Given the description of an element on the screen output the (x, y) to click on. 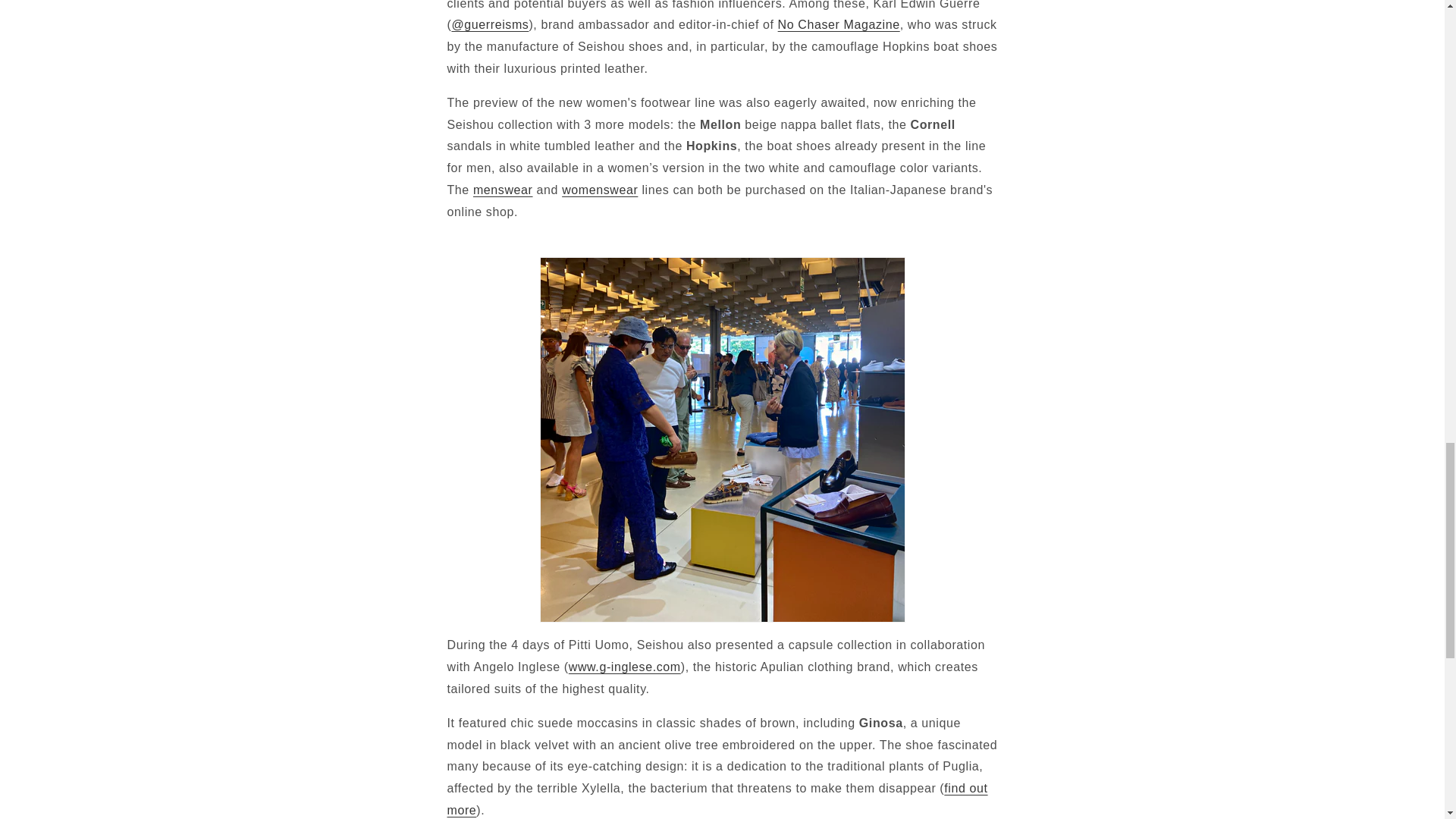
No Chaser Magazine (838, 24)
